Given the description of an element on the screen output the (x, y) to click on. 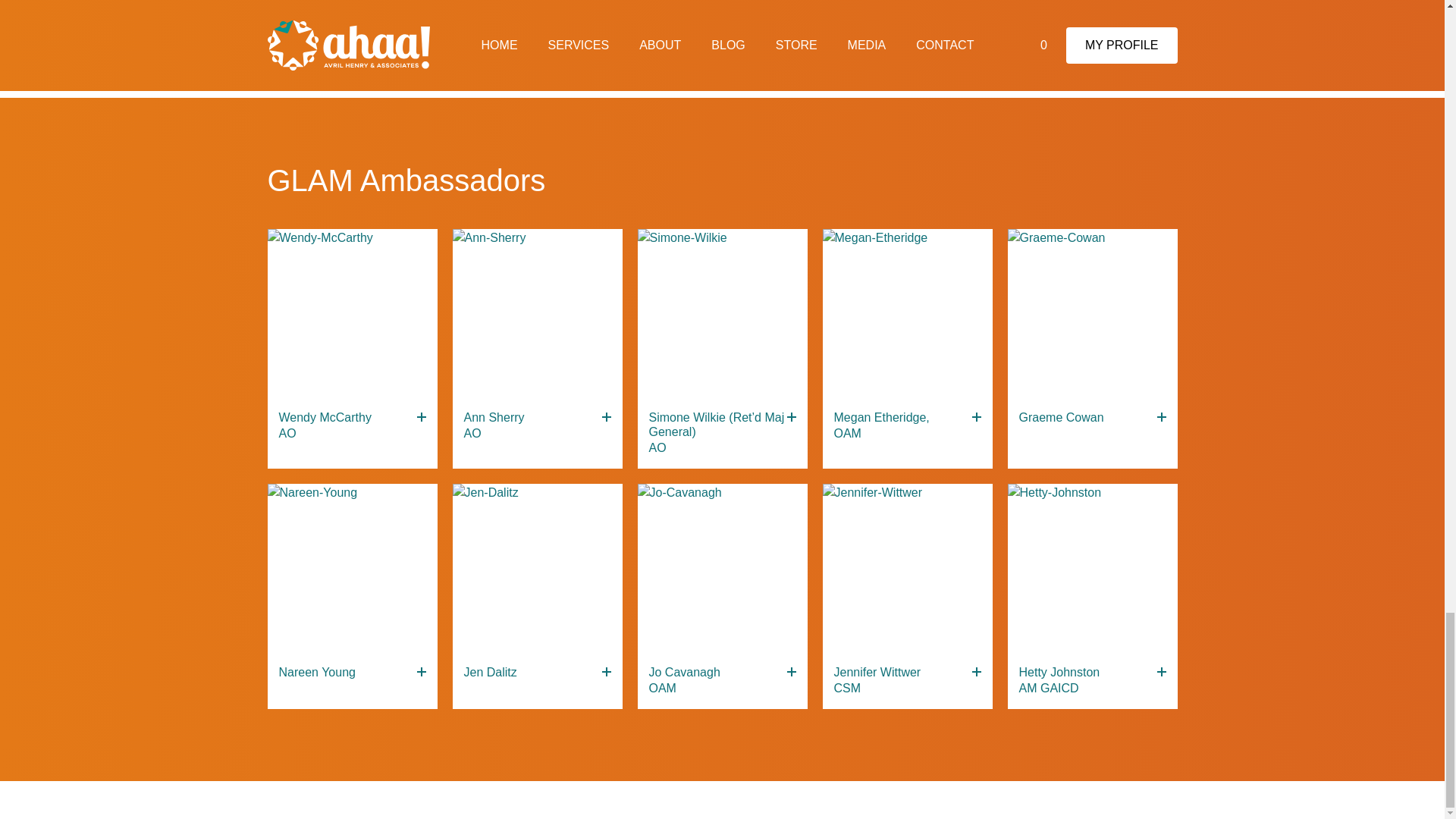
Graeme-Cowan (1091, 313)
YouTube video player (721, 19)
Jen-Dalitz (536, 568)
Nareen-Young (351, 568)
Wendy-McCarthy (351, 313)
Ann-Sherry (536, 313)
Simone-Wilkie (721, 313)
Jo-Cavanagh (721, 568)
Jennifer-Wittwer (906, 568)
Megan-Etheridge (906, 313)
